Given the description of an element on the screen output the (x, y) to click on. 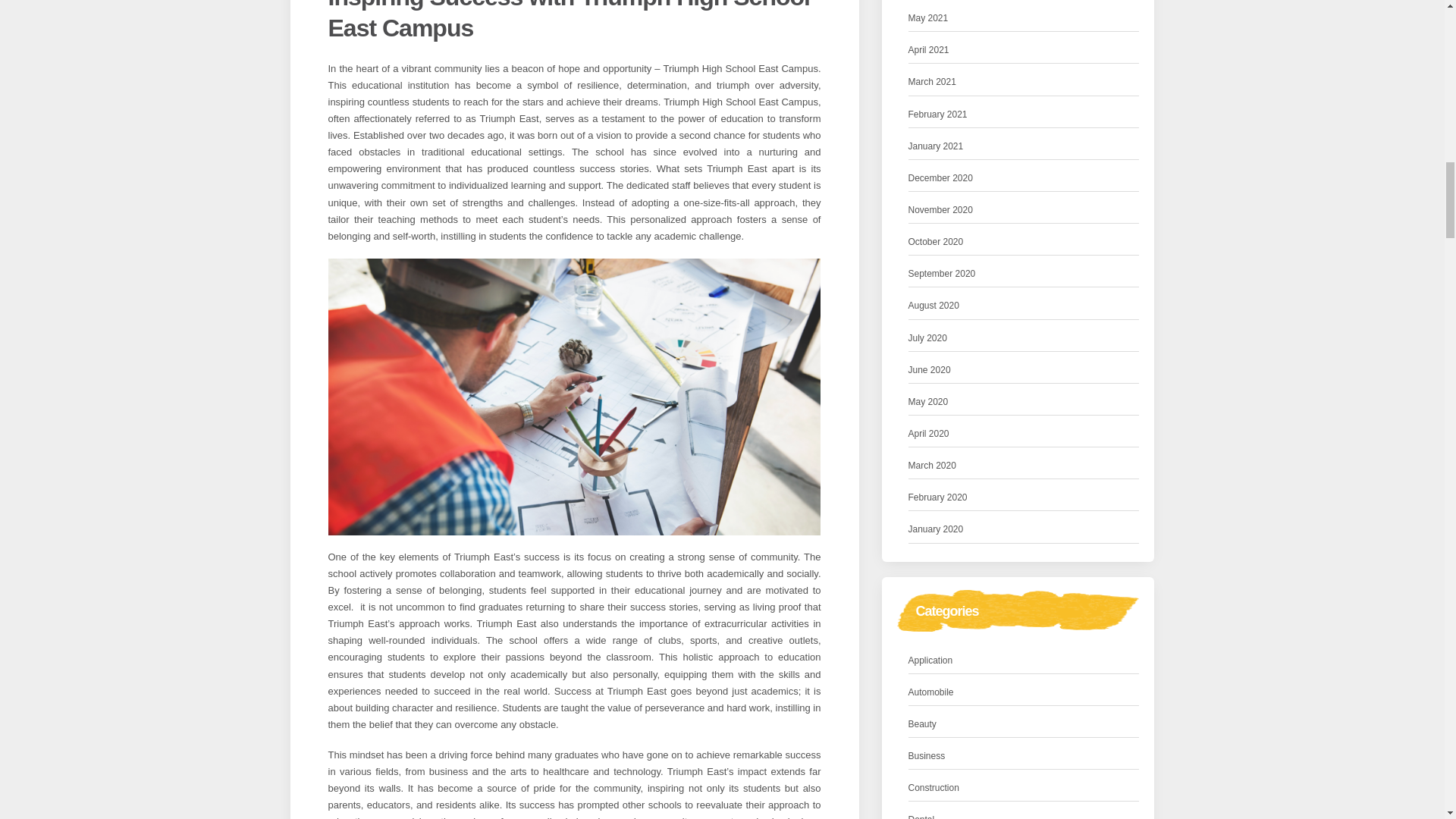
Inspiring Success with Triumph High School East Campus (568, 21)
